Given the description of an element on the screen output the (x, y) to click on. 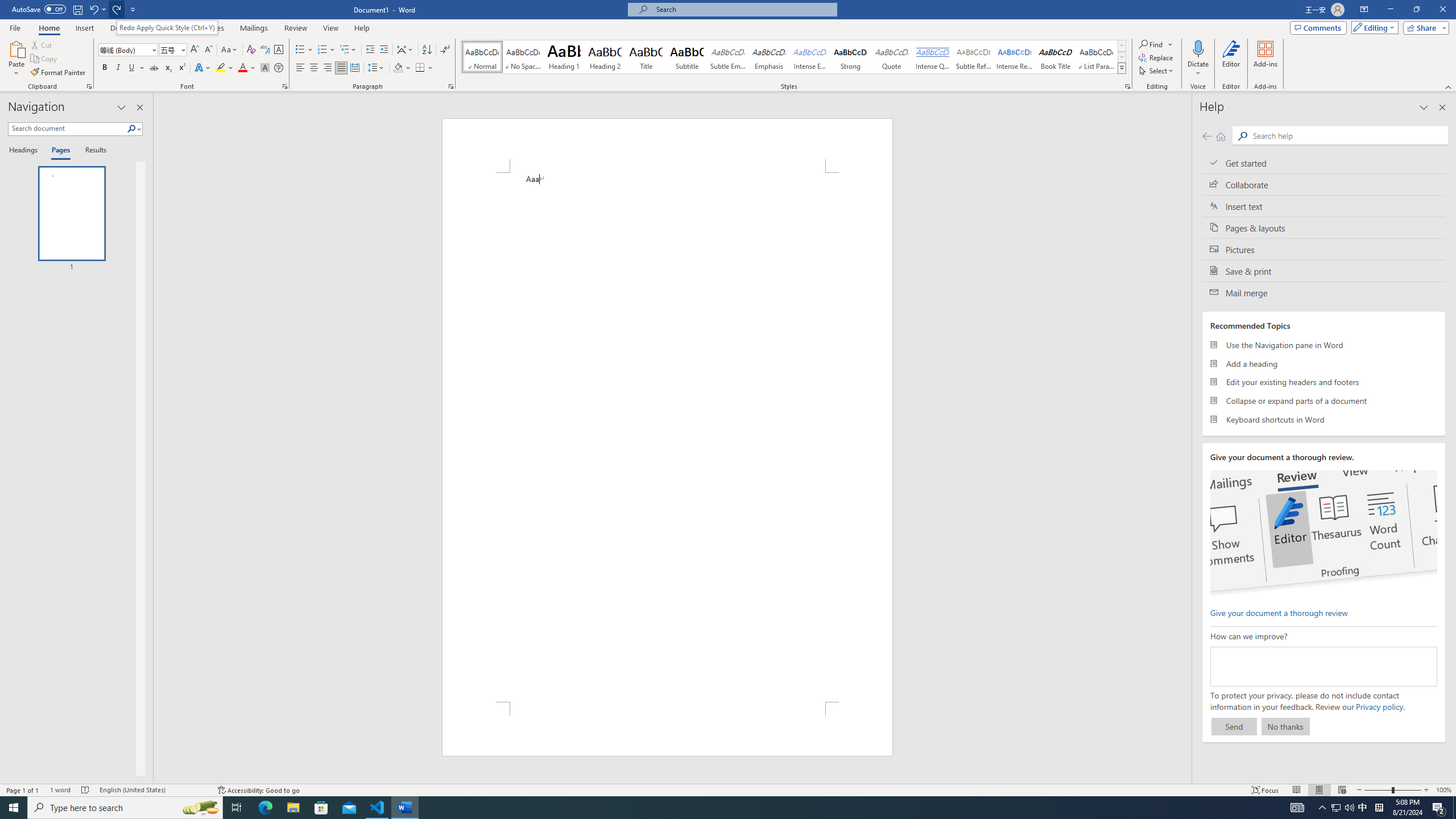
Intense Quote (932, 56)
Redo Apply Quick Style (117, 9)
